Given the description of an element on the screen output the (x, y) to click on. 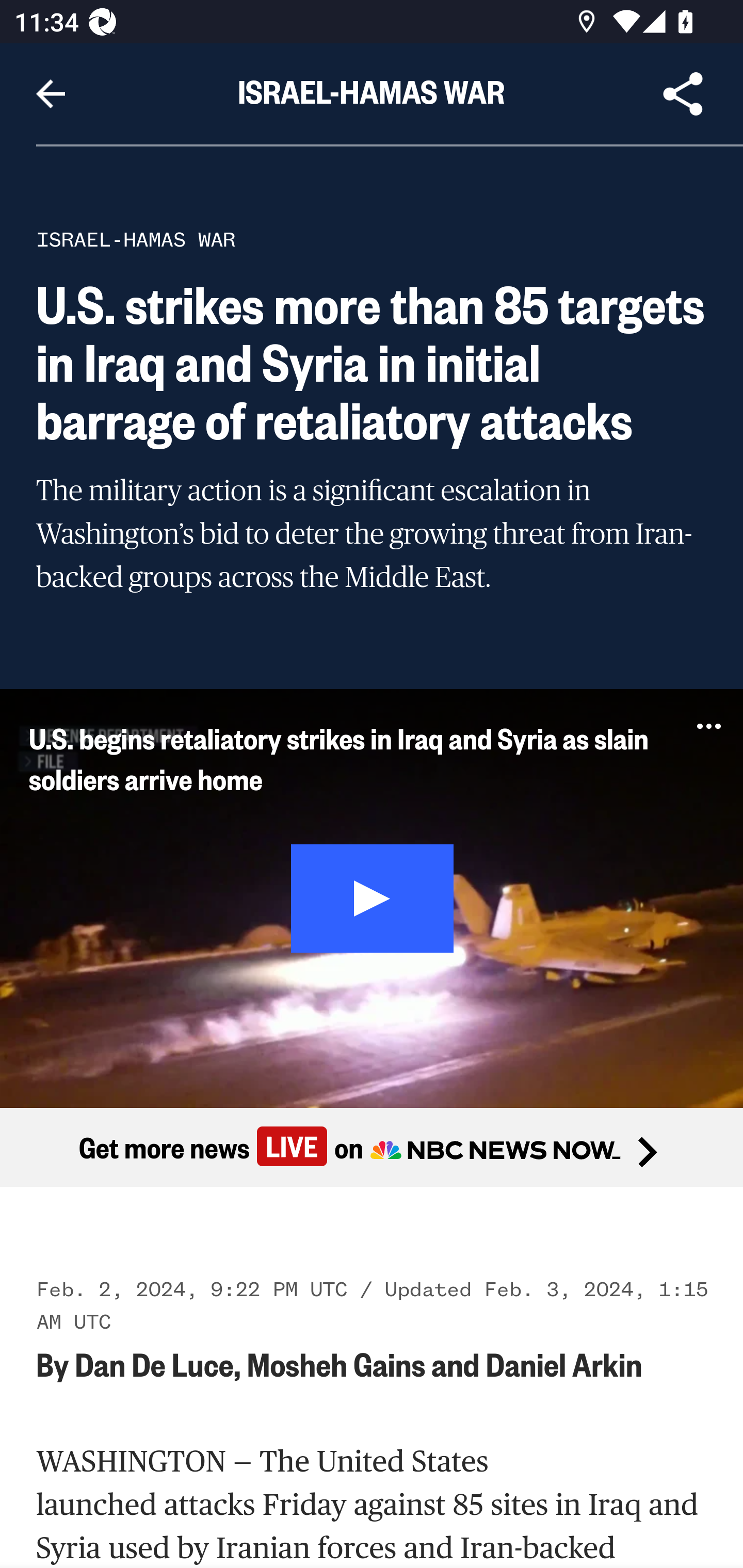
Navigate up (50, 93)
Share Article, button (683, 94)
ISRAEL-HAMAS WAR (136, 239)
Get more news Live on Get more news Live on (371, 1147)
